Given the description of an element on the screen output the (x, y) to click on. 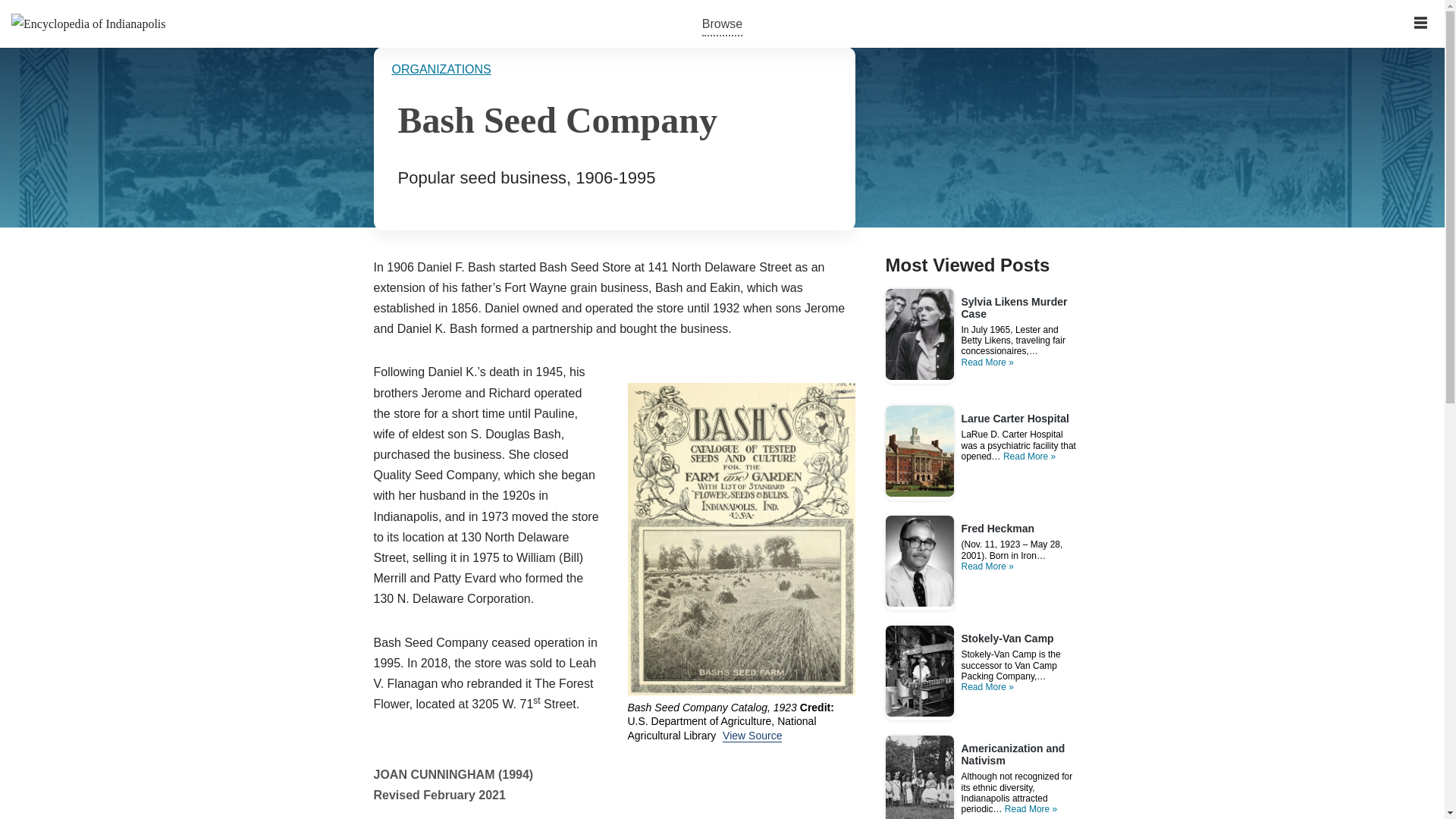
Browse (721, 23)
Encyclopedia of Indianapolis (88, 23)
Skip to content (11, 31)
Larue Carter Hospital (1014, 419)
ORGANIZATIONS (440, 69)
Sylvia Likens Murder Case (1020, 314)
View Source (751, 735)
